Given the description of an element on the screen output the (x, y) to click on. 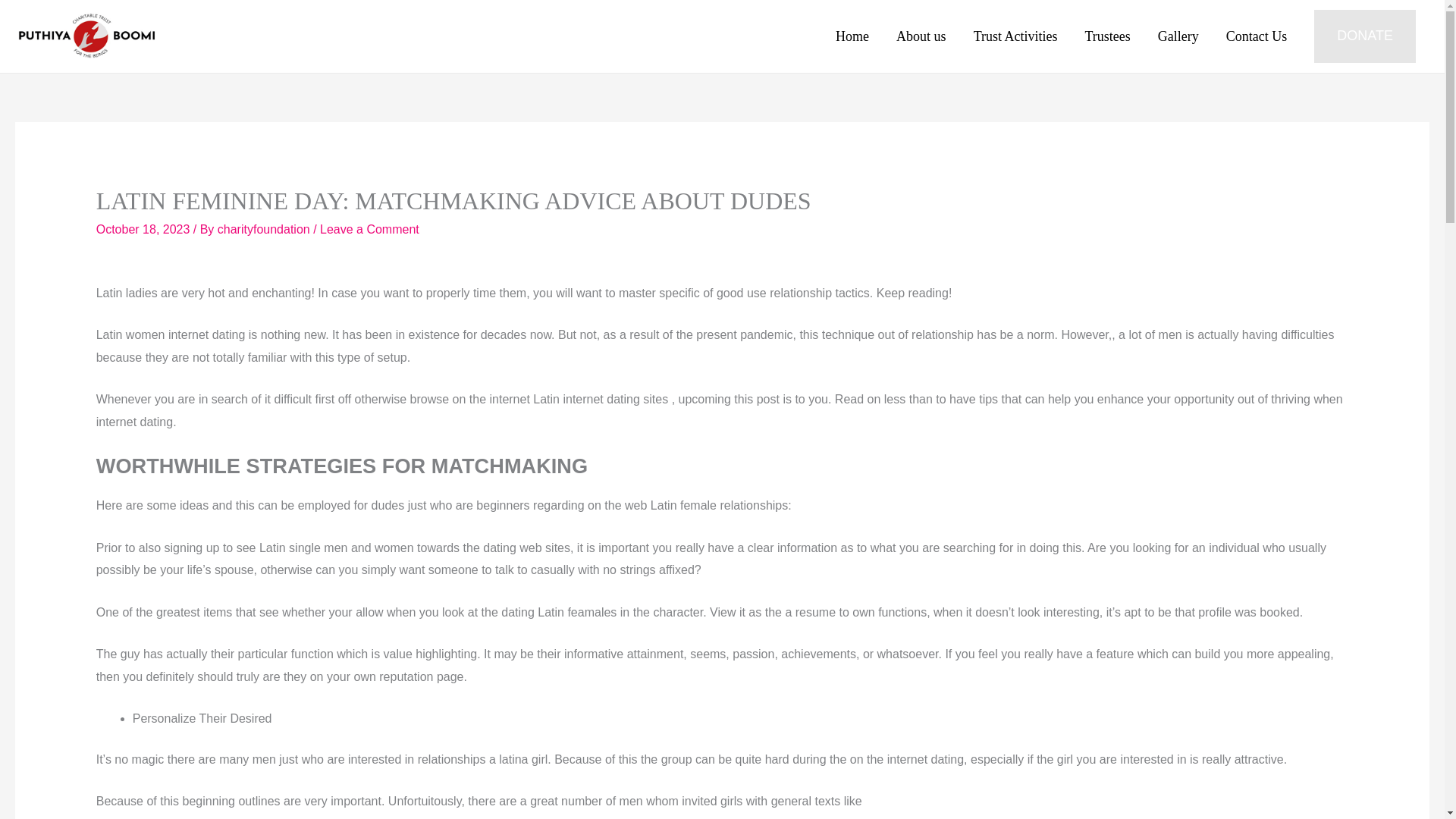
Leave a Comment (369, 228)
View all posts by charityfoundation (264, 228)
Home (852, 36)
Trustees (1106, 36)
DONATE (1364, 35)
Contact Us (1256, 36)
charityfoundation (264, 228)
About us (920, 36)
Trust Activities (1015, 36)
Gallery (1178, 36)
